Given the description of an element on the screen output the (x, y) to click on. 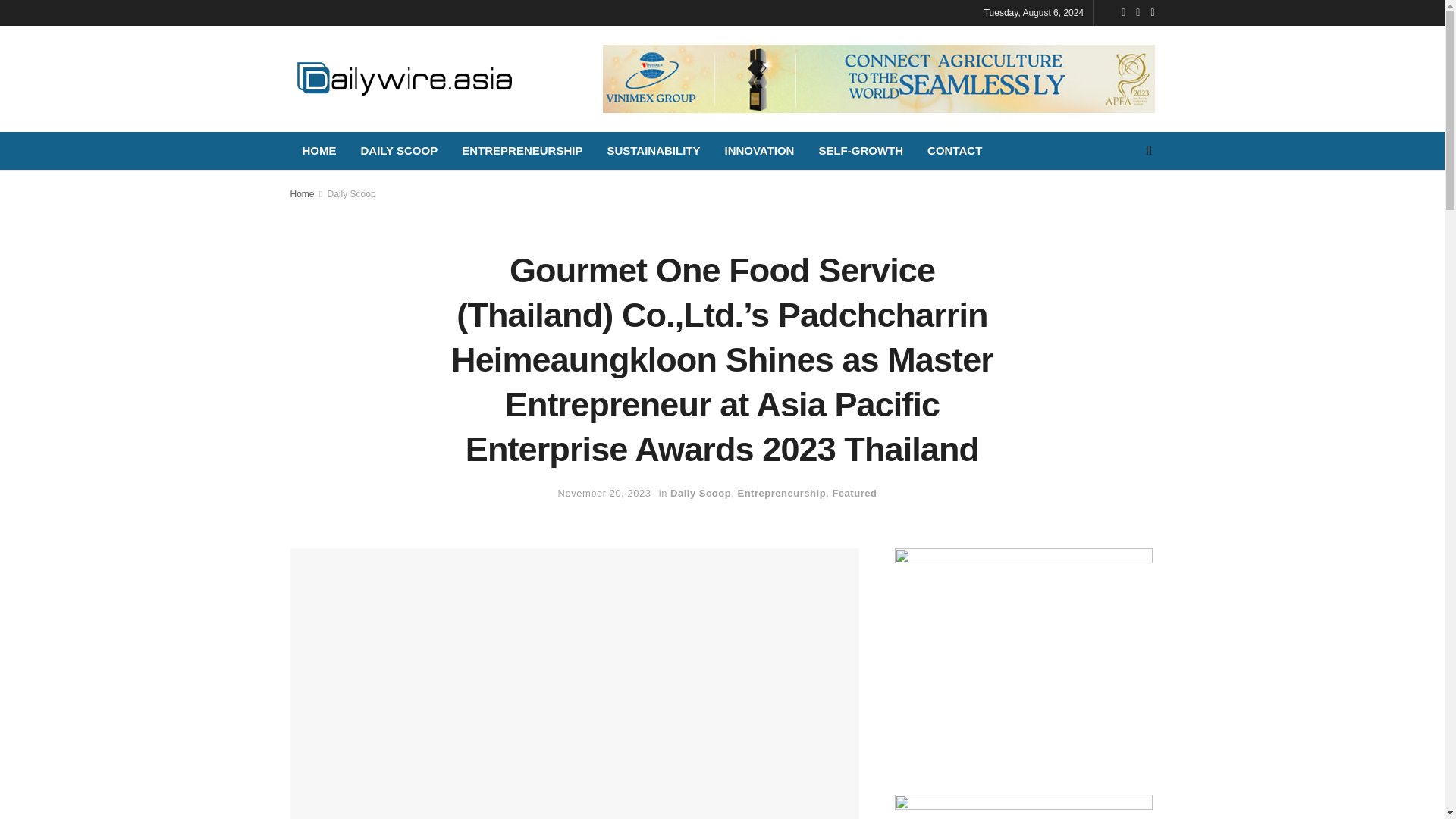
Featured (853, 492)
ENTREPRENEURSHIP (521, 150)
DAILY SCOOP (399, 150)
HOME (318, 150)
SUSTAINABILITY (652, 150)
CONTACT (954, 150)
Entrepreneurship (780, 492)
SELF-GROWTH (860, 150)
Home (301, 194)
November 20, 2023 (603, 492)
Daily Scoop (351, 194)
Daily Scoop (699, 492)
INNOVATION (758, 150)
